Given the description of an element on the screen output the (x, y) to click on. 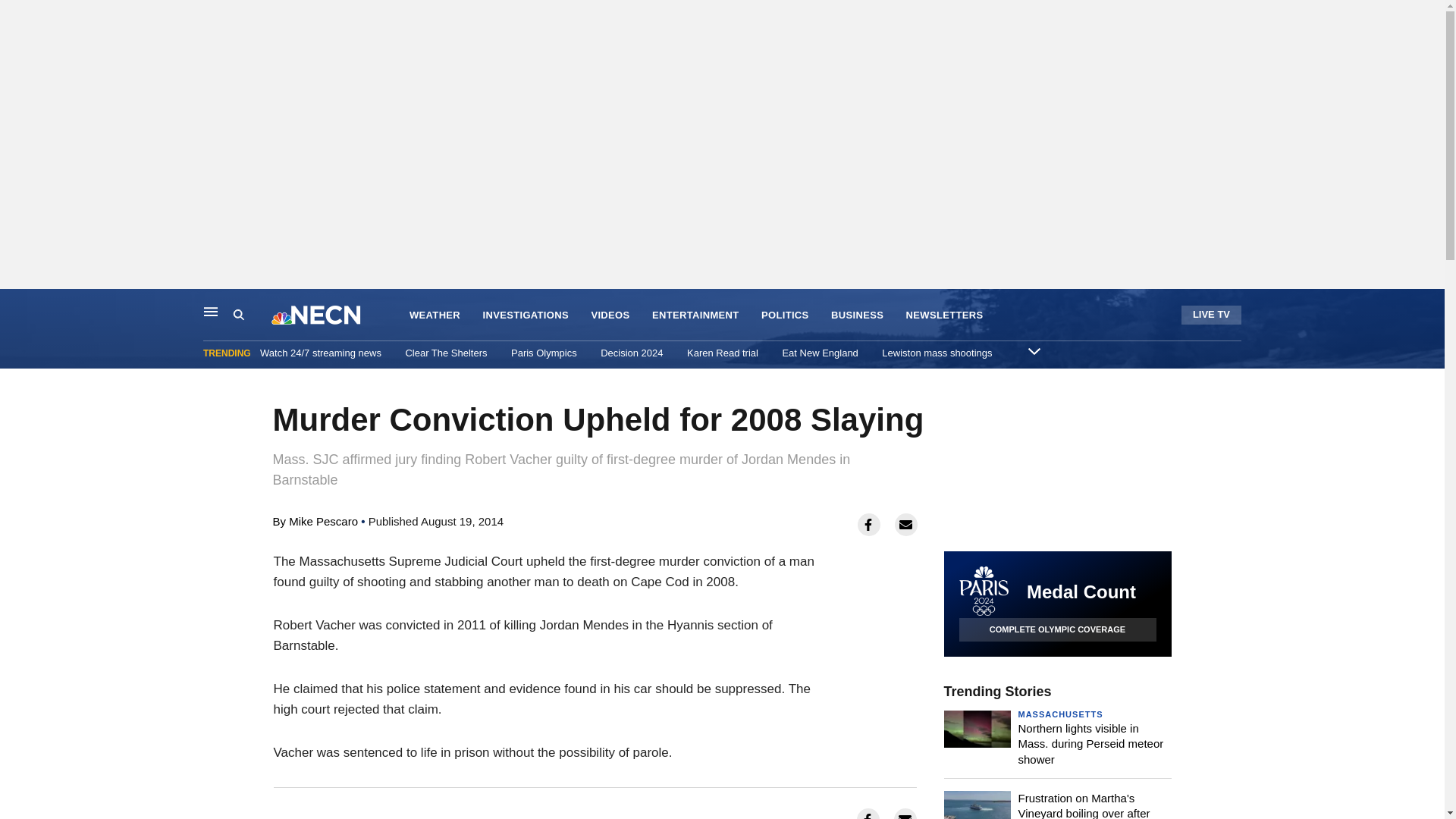
Decision 2024 (630, 352)
VIDEOS (609, 315)
BUSINESS (857, 315)
Clear The Shelters (445, 352)
NEWSLETTERS (944, 315)
COMPLETE OLYMPIC COVERAGE (1057, 629)
Main Navigation (210, 311)
Search (252, 314)
Expand (1034, 350)
